Given the description of an element on the screen output the (x, y) to click on. 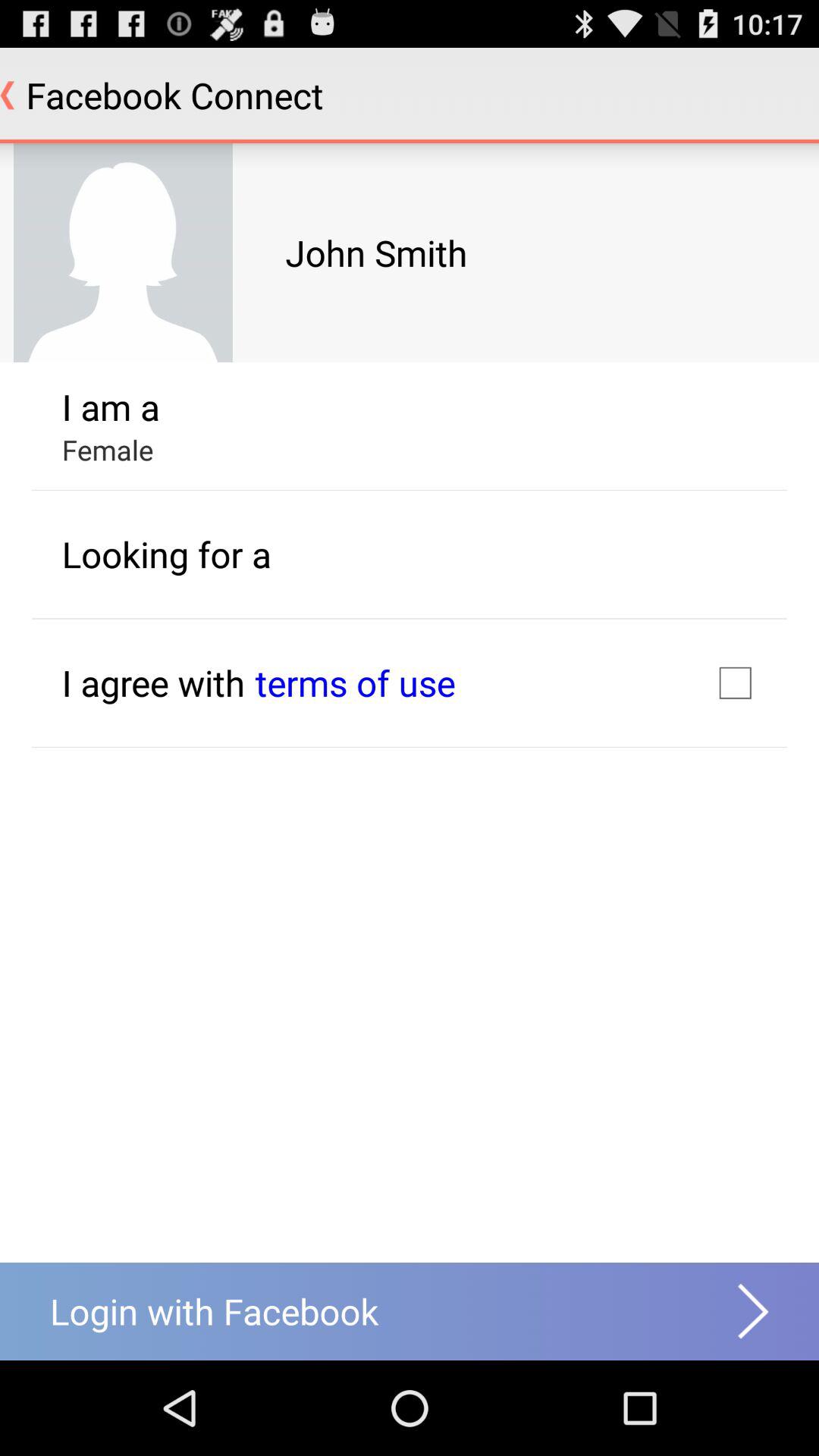
turn off the icon next to terms of use icon (735, 682)
